Given the description of an element on the screen output the (x, y) to click on. 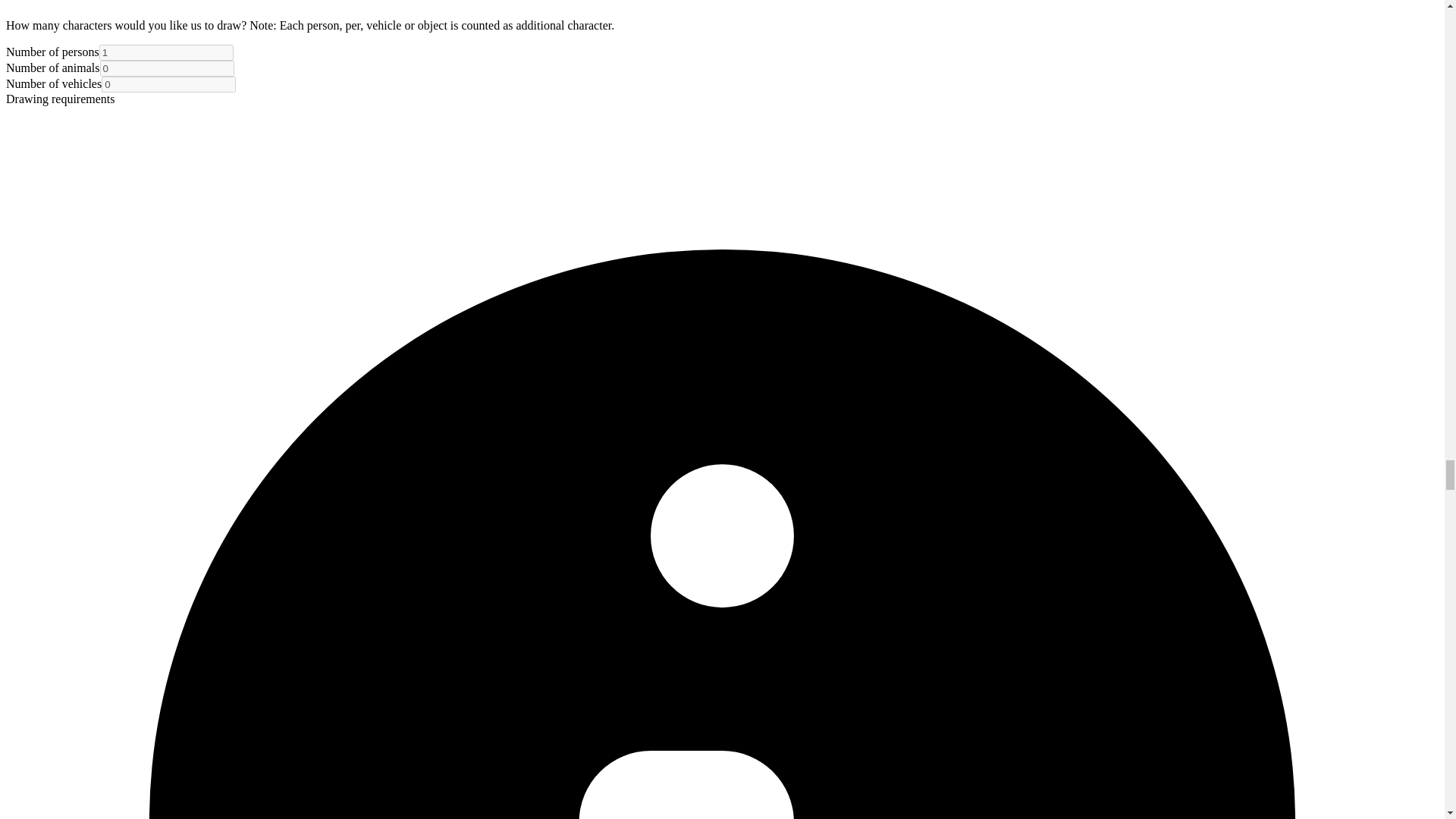
1 (165, 52)
0 (167, 68)
0 (168, 84)
